Given the description of an element on the screen output the (x, y) to click on. 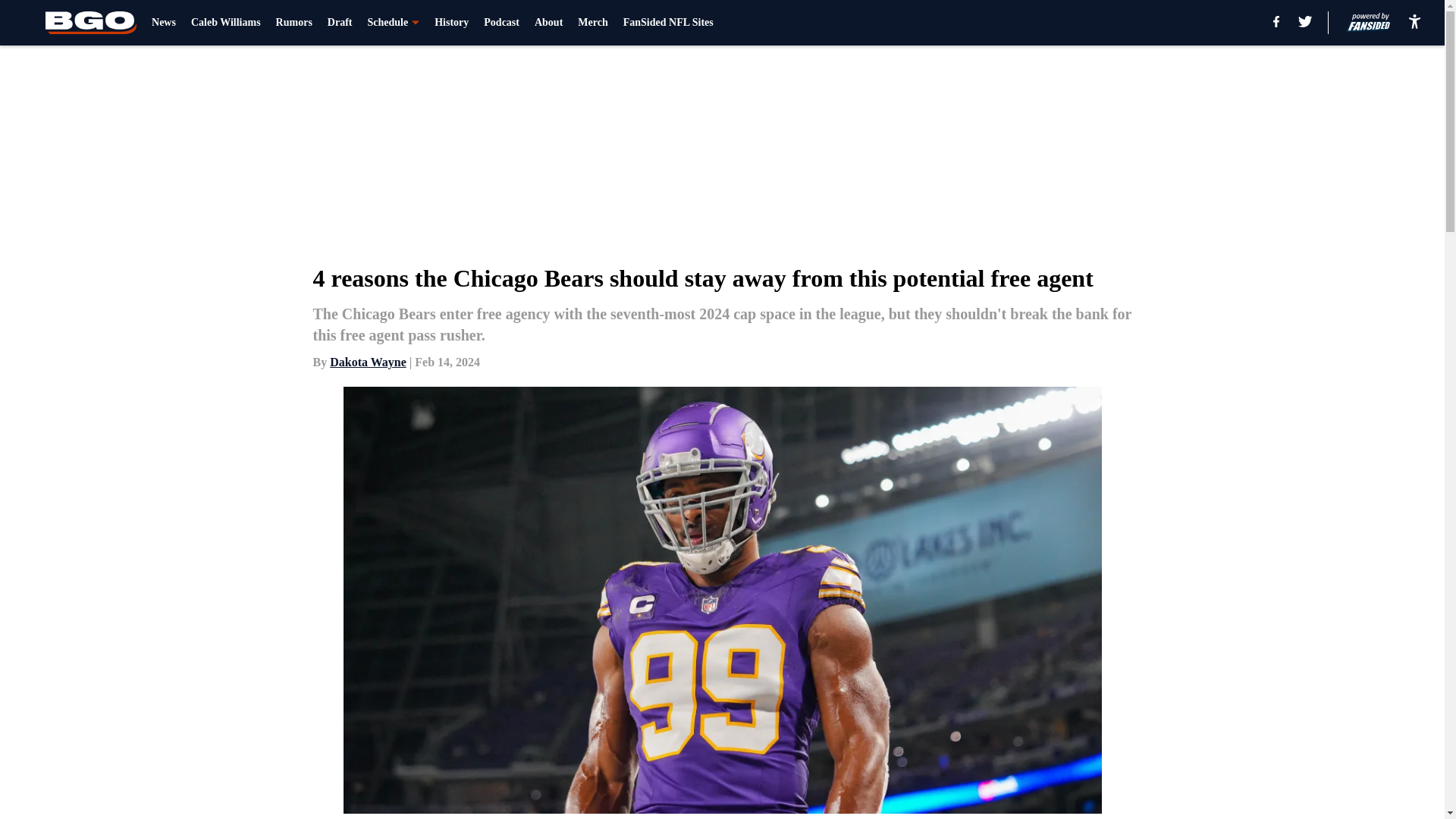
Merch (592, 22)
Dakota Wayne (368, 361)
About (548, 22)
Podcast (501, 22)
History (450, 22)
FanSided NFL Sites (668, 22)
Caleb Williams (225, 22)
News (163, 22)
Draft (339, 22)
